Given the description of an element on the screen output the (x, y) to click on. 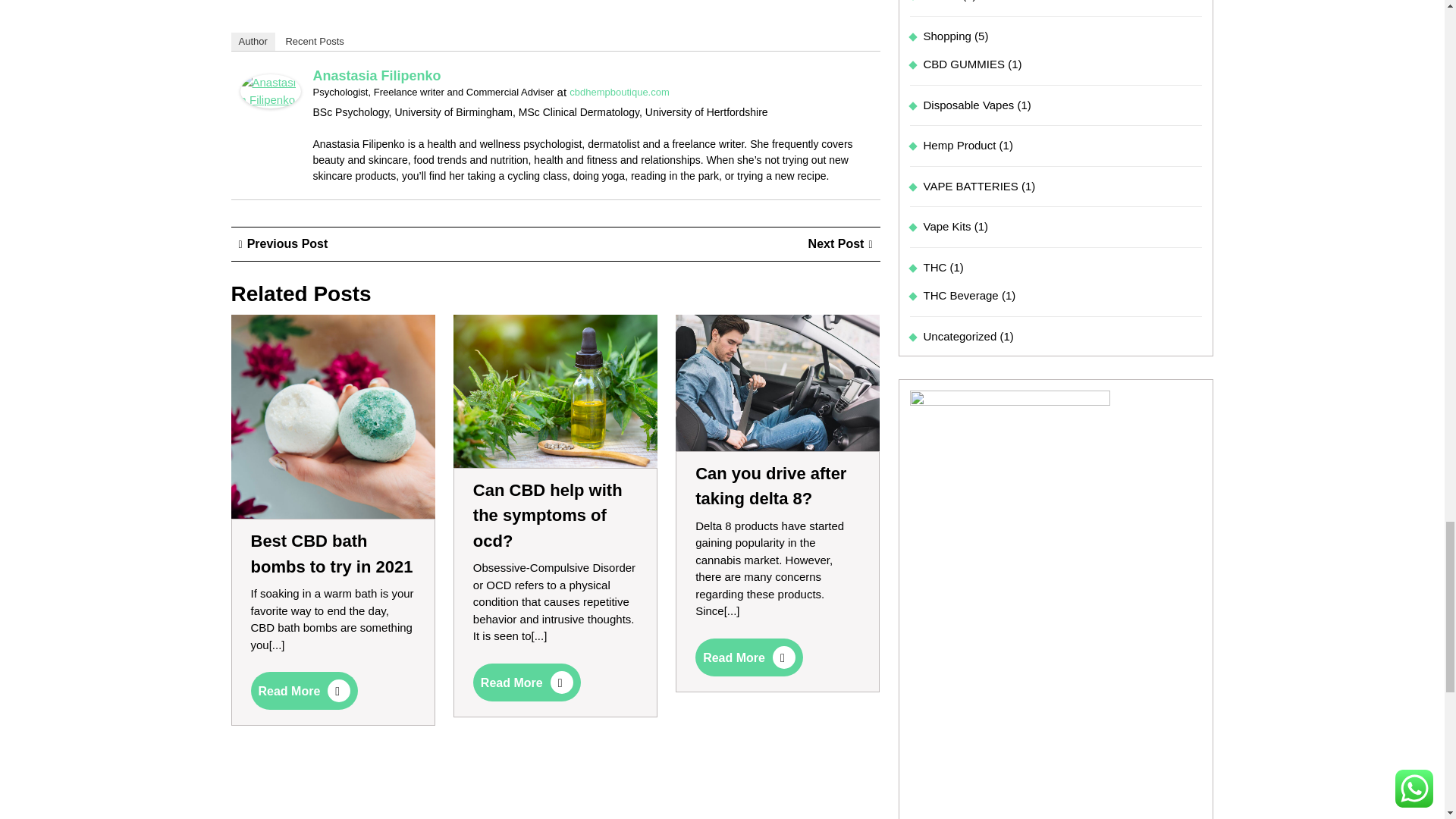
Anastasia Filipenko (269, 89)
cbdhempboutique.com (619, 91)
Author (252, 41)
Recent Posts (314, 41)
Anastasia Filipenko (377, 75)
